Given the description of an element on the screen output the (x, y) to click on. 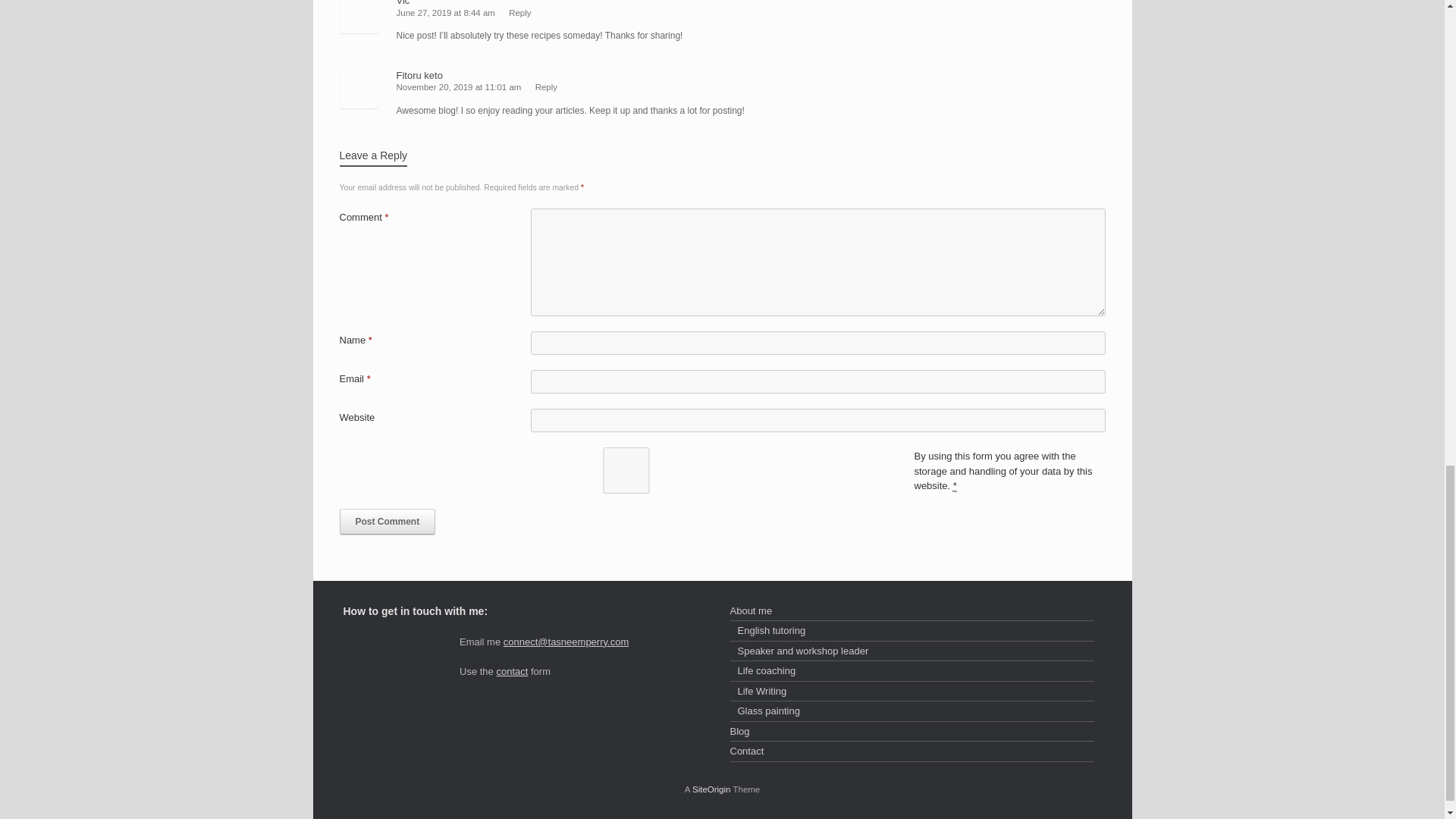
Post Comment (387, 521)
Vic (402, 2)
Post Comment (387, 521)
You need to accept this checkbox. (954, 485)
June 27, 2019 at 8:44 am (446, 12)
Reply (546, 86)
1 (625, 470)
Reply (519, 12)
Fitoru keto (419, 75)
November 20, 2019 at 11:01 am (459, 86)
